Given the description of an element on the screen output the (x, y) to click on. 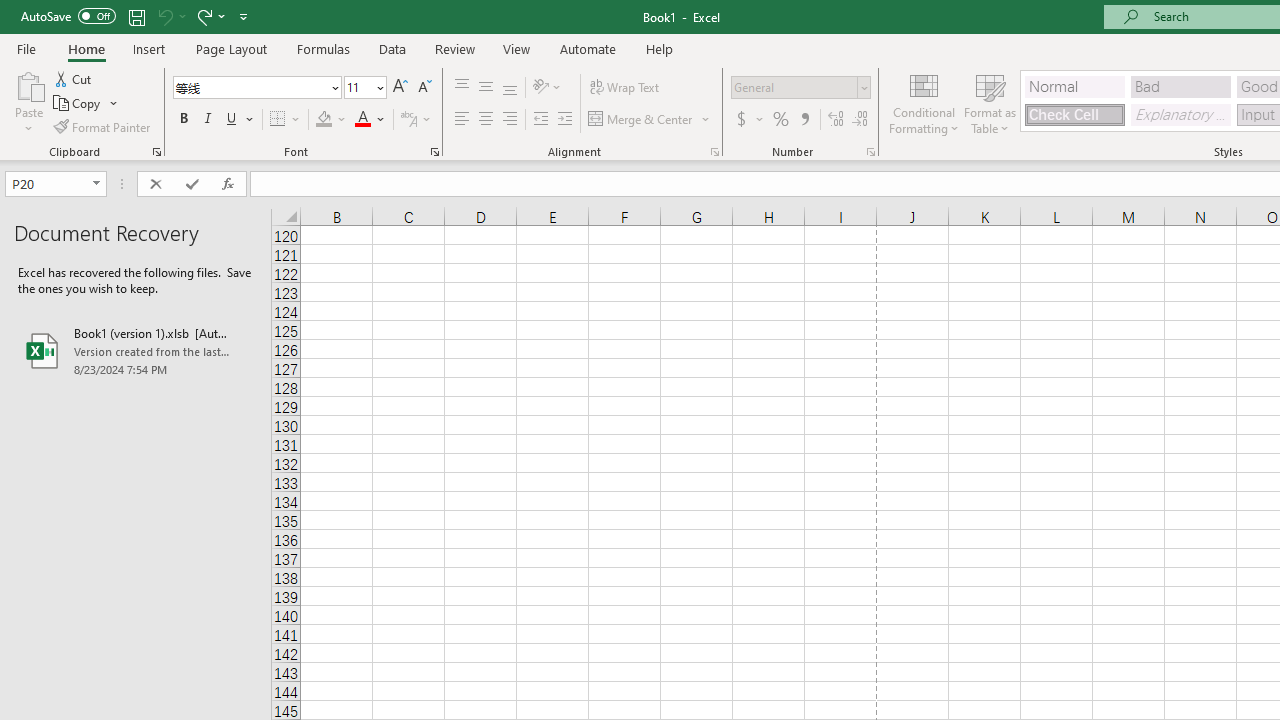
Decrease Indent (540, 119)
Wrap Text (624, 87)
Bold (183, 119)
Increase Decimal (836, 119)
